Given the description of an element on the screen output the (x, y) to click on. 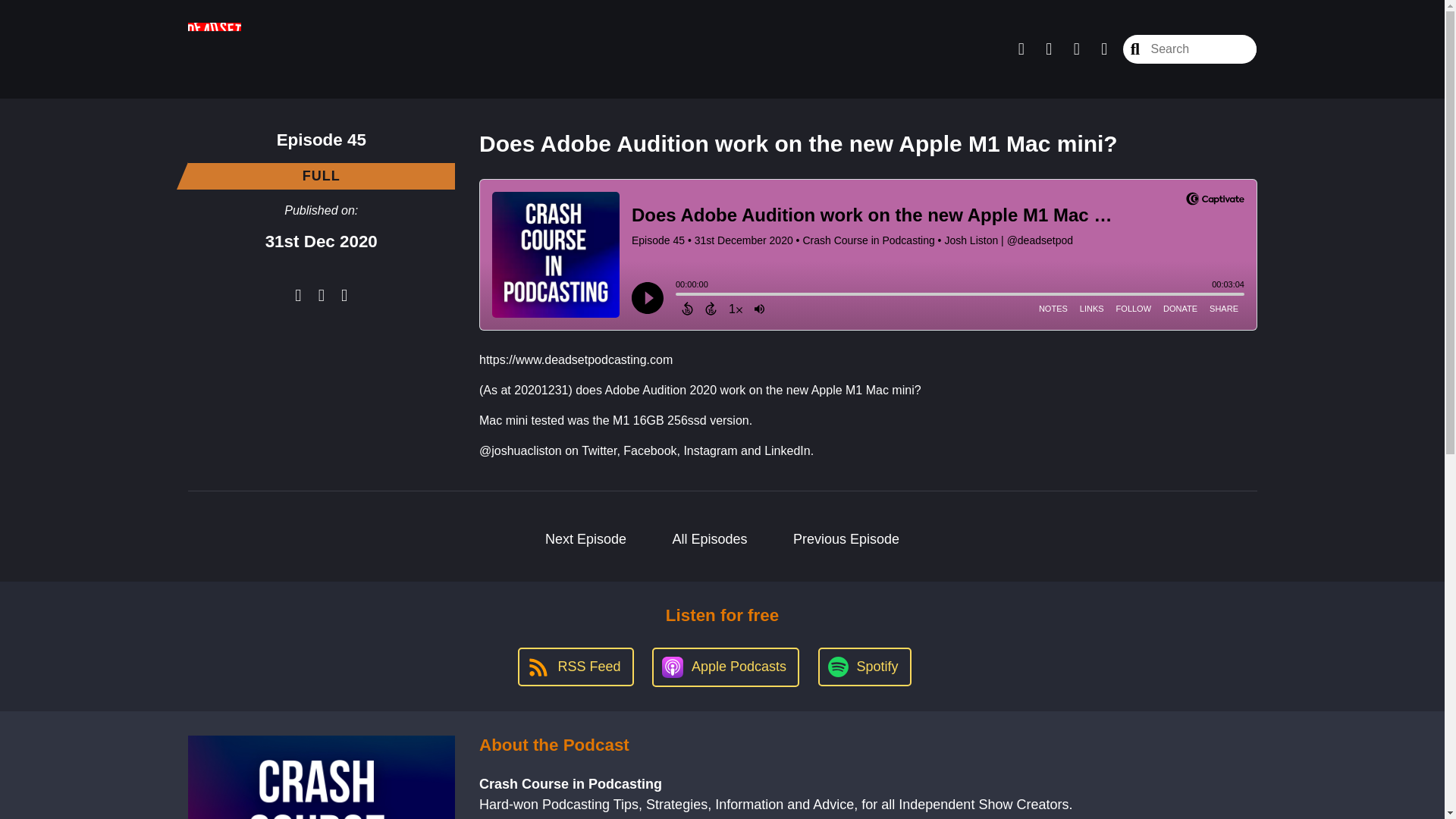
RSS Feed (575, 666)
All Episodes (709, 539)
Spotify (863, 666)
Next Episode (585, 539)
Apple Podcasts (725, 667)
Previous Episode (845, 539)
